Given the description of an element on the screen output the (x, y) to click on. 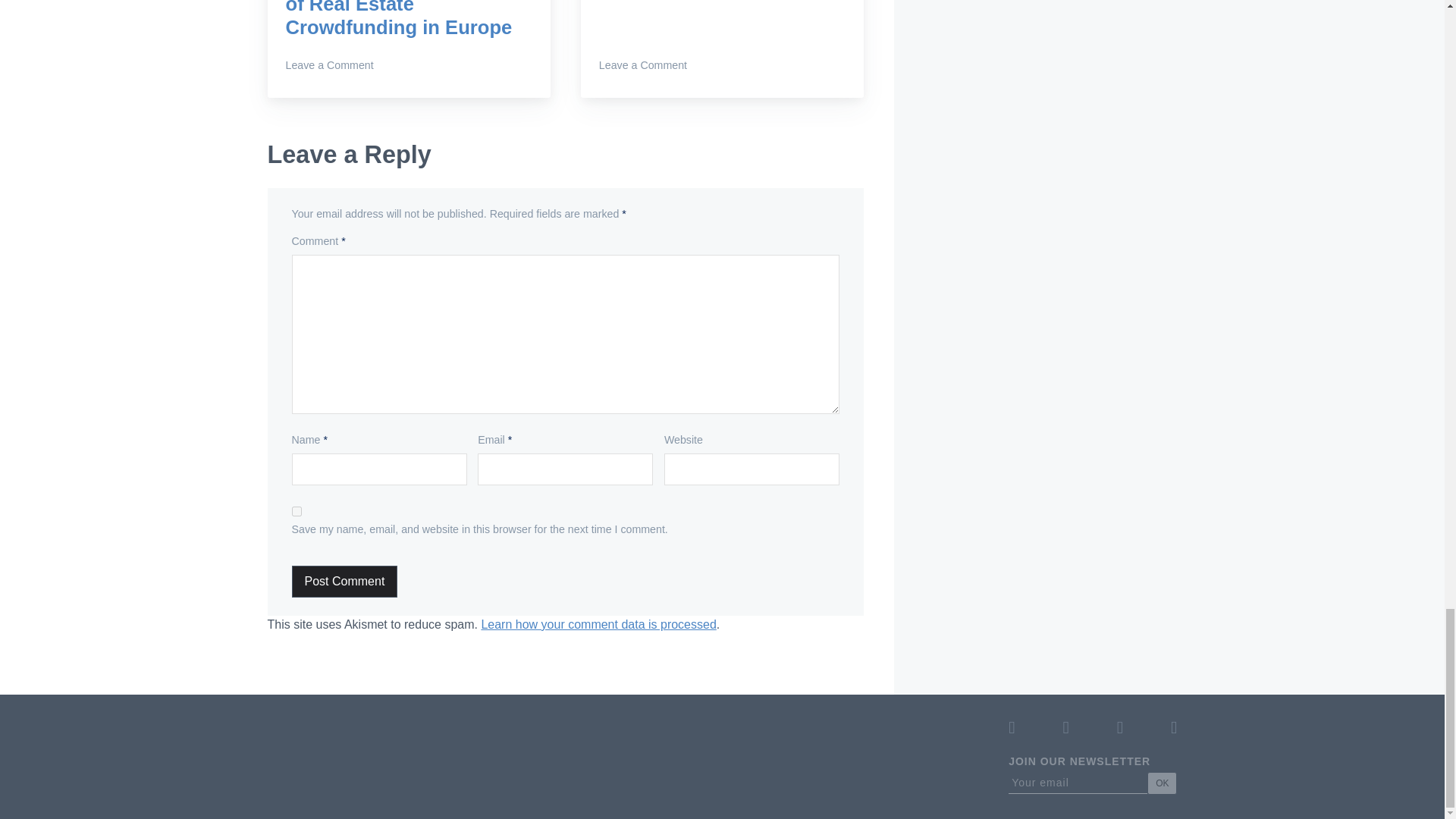
OK (1161, 783)
Post Comment (344, 581)
yes (296, 511)
